Given the description of an element on the screen output the (x, y) to click on. 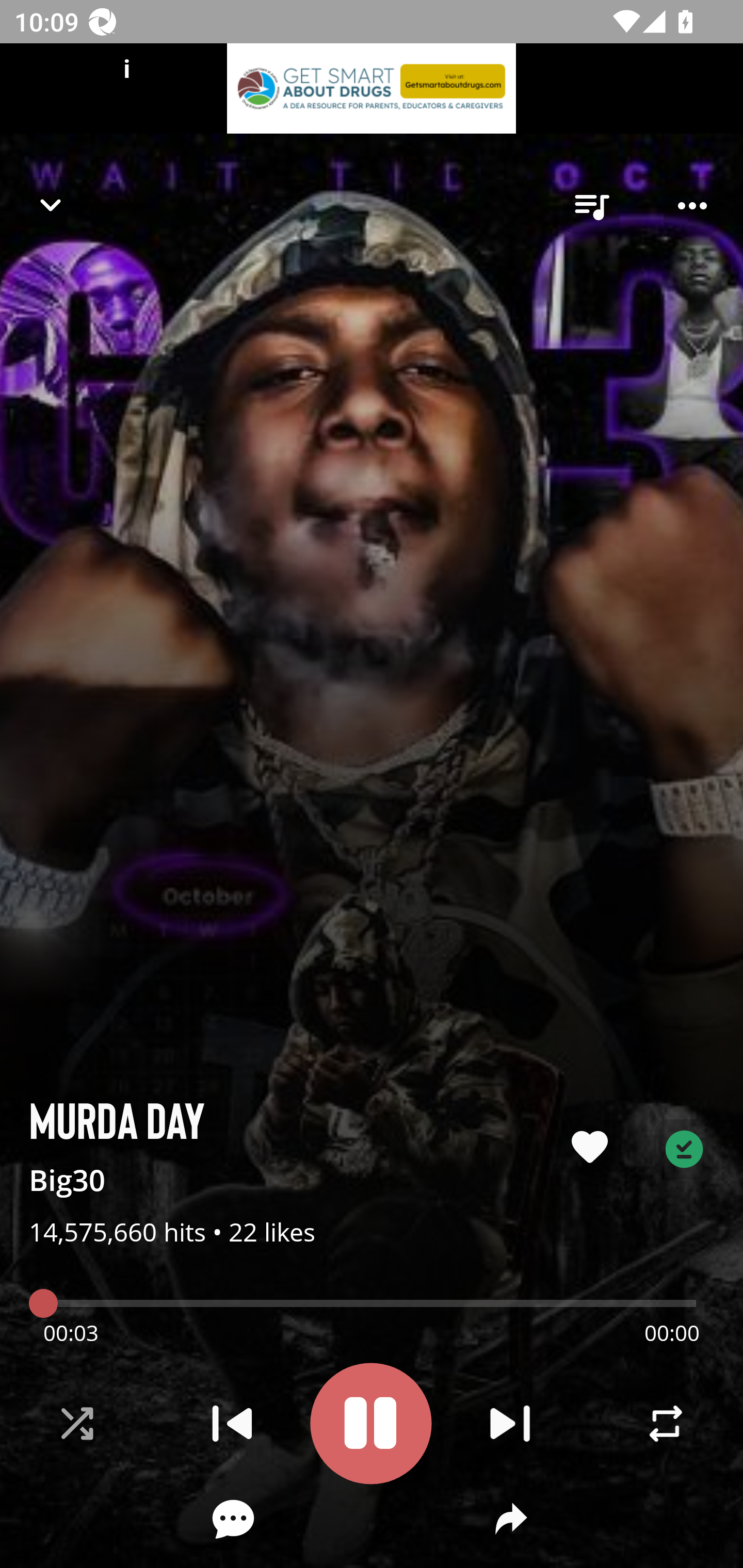
Navigate up (50, 205)
queue (590, 206)
Player options (692, 206)
